Given the description of an element on the screen output the (x, y) to click on. 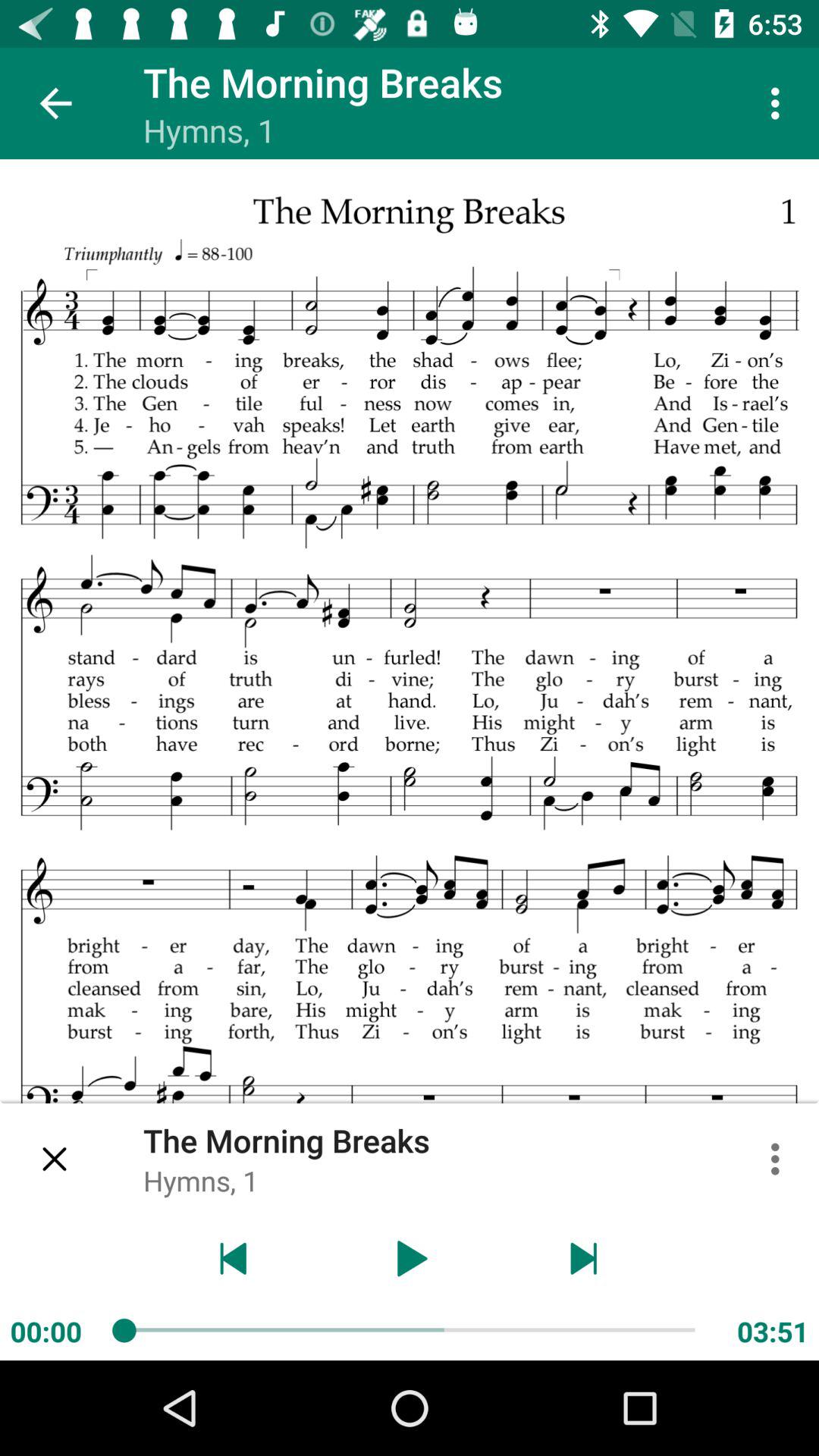
open the icon next to the the morning breaks icon (55, 1158)
